Given the description of an element on the screen output the (x, y) to click on. 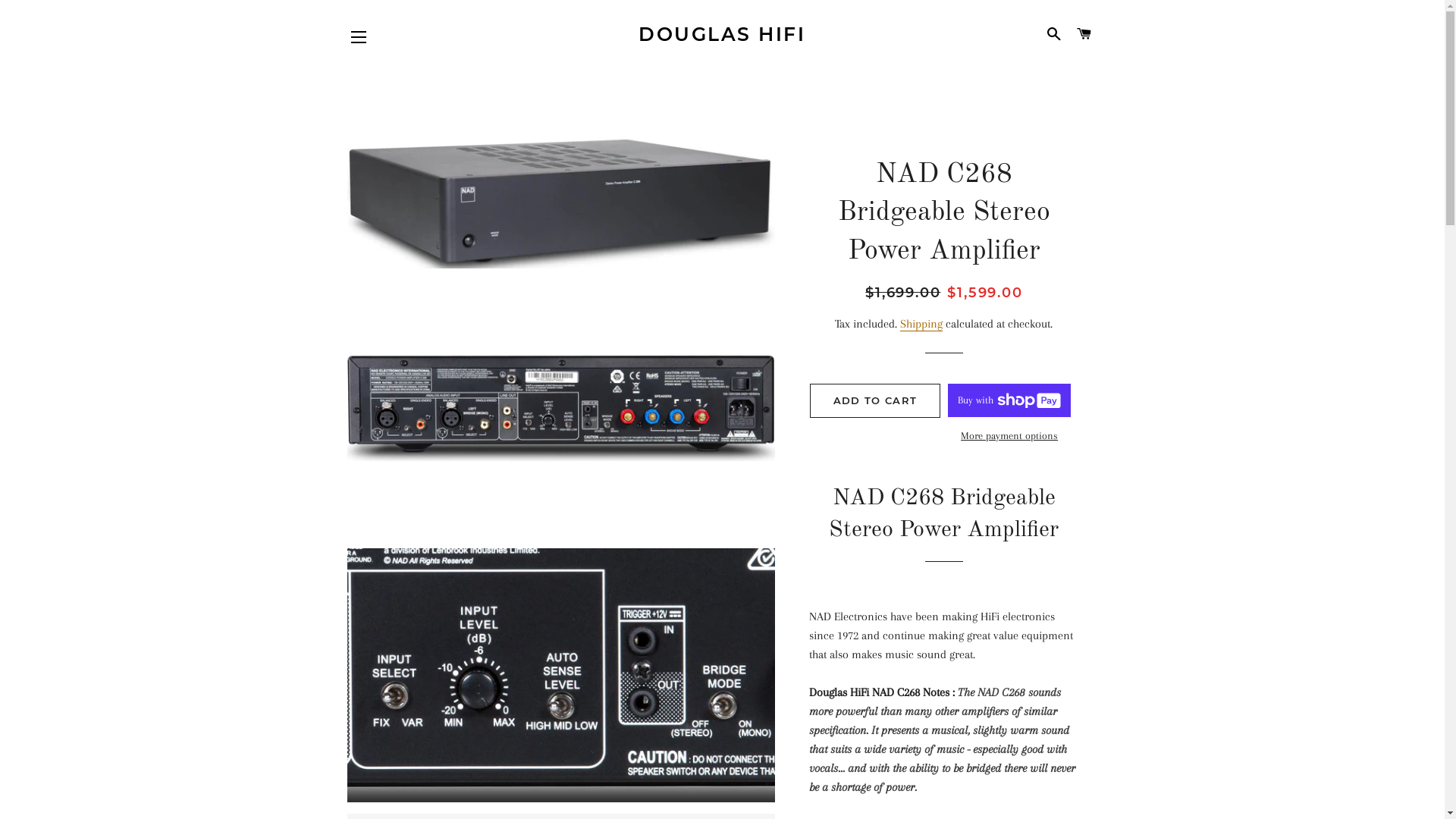
ADD TO CART Element type: text (874, 400)
DOUGLAS HIFI Element type: text (721, 34)
SEARCH Element type: text (1054, 33)
SITE NAVIGATION Element type: text (358, 37)
CART Element type: text (1083, 33)
Shipping Element type: text (921, 323)
More payment options Element type: text (1008, 435)
